Given the description of an element on the screen output the (x, y) to click on. 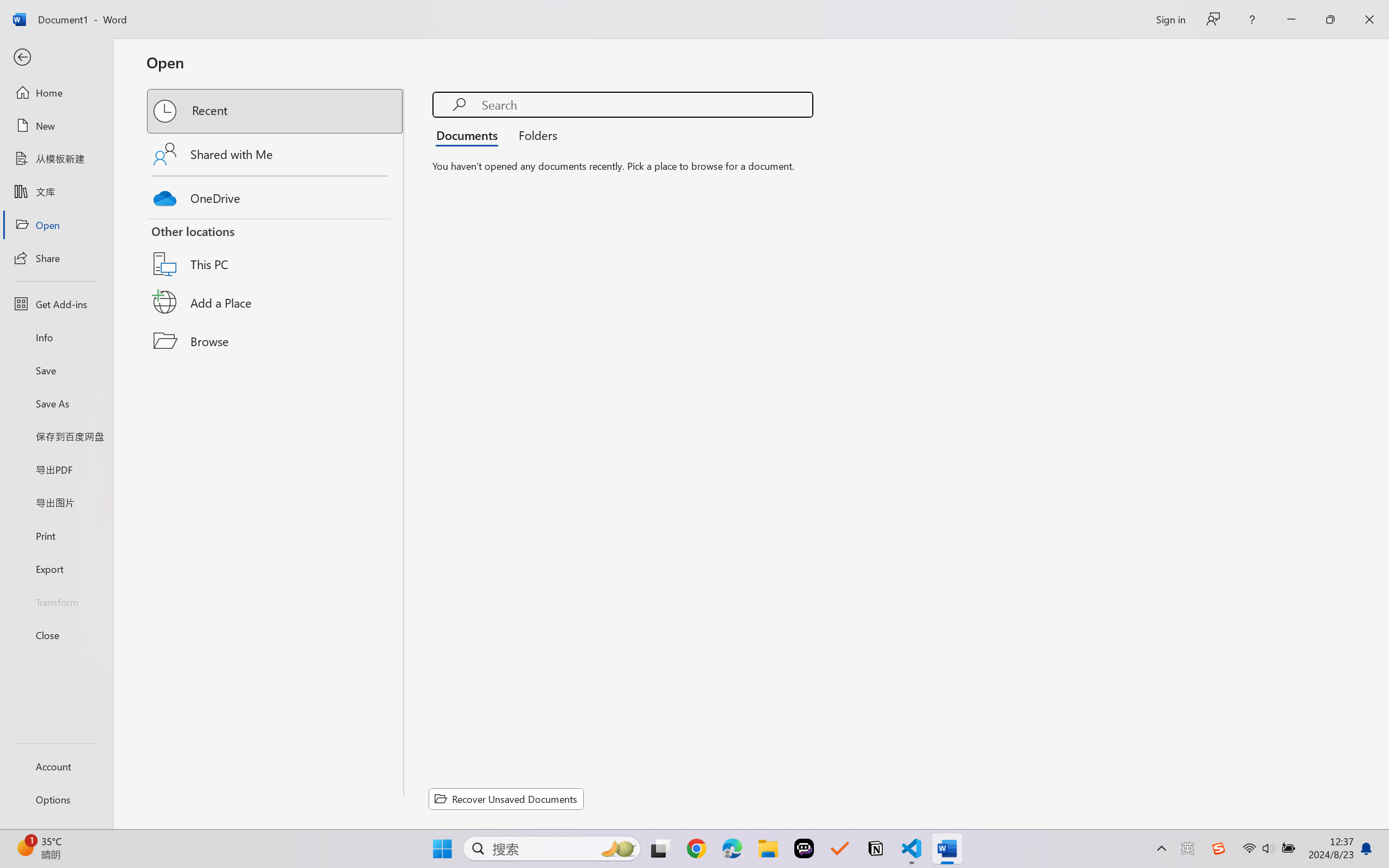
Export (56, 568)
Get Add-ins (56, 303)
Add a Place (275, 302)
OneDrive (275, 195)
Folders (534, 134)
Print (56, 535)
Recent (275, 110)
Account (56, 765)
Back (56, 57)
Options (56, 798)
